Given the description of an element on the screen output the (x, y) to click on. 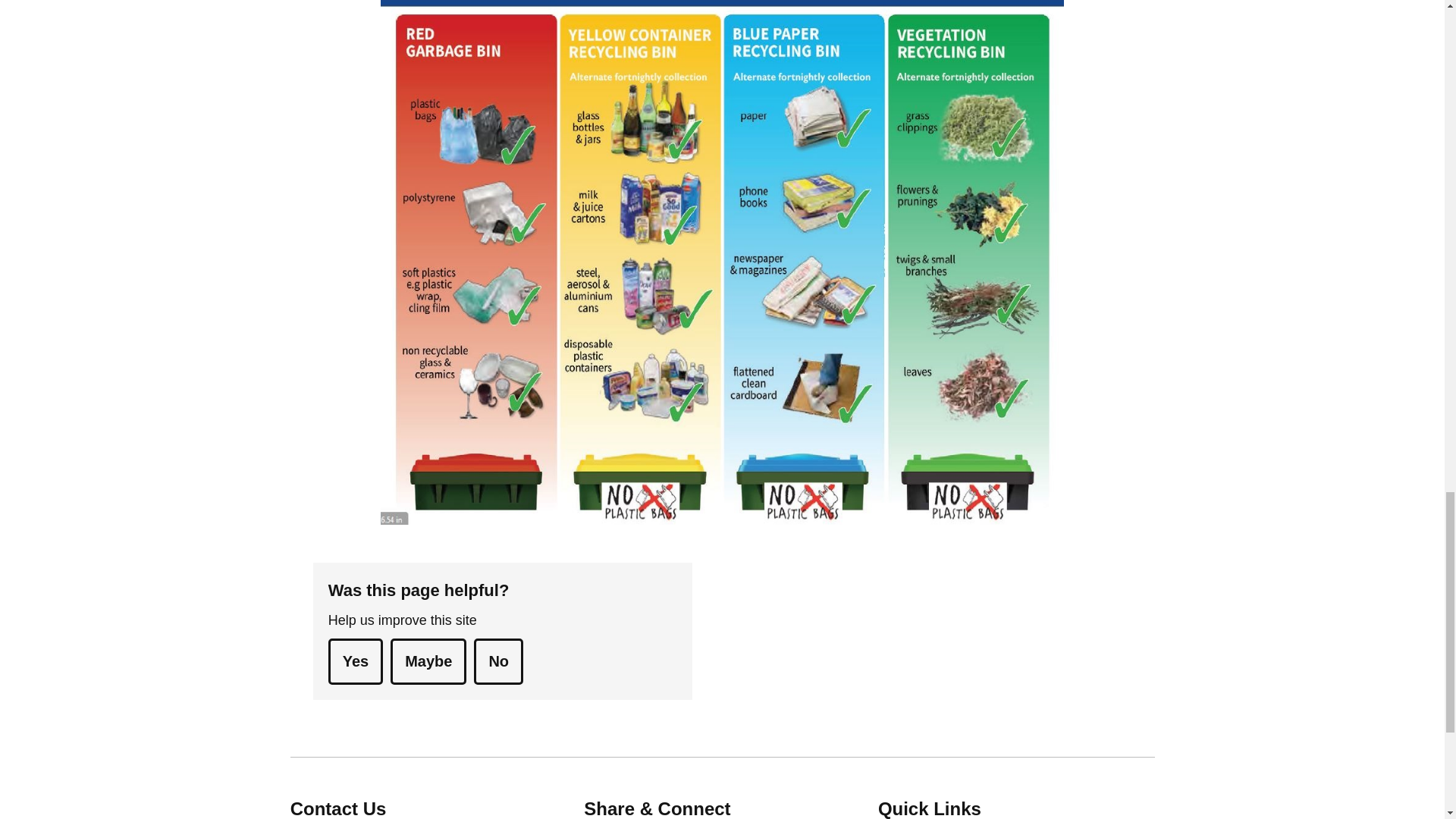
Yes (355, 661)
Maybe (427, 661)
Yes, this page was helpful (355, 661)
No, this page was not helpful (498, 661)
No (498, 661)
